Given the description of an element on the screen output the (x, y) to click on. 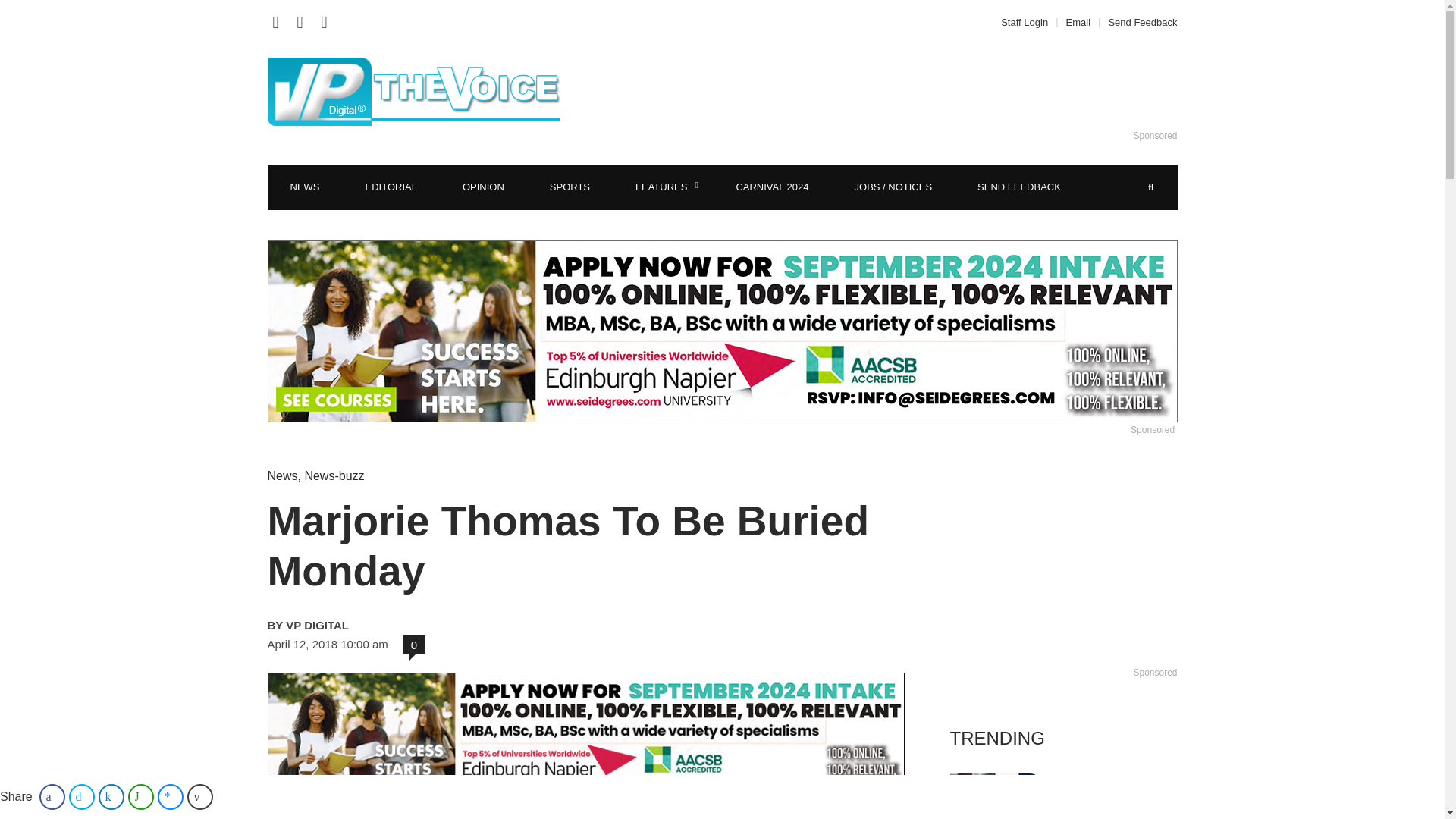
OPINION (483, 186)
Advertisement (906, 91)
SEND FEEDBACK (1019, 186)
Email (1078, 21)
Send Feedback (1138, 21)
SPORTS (569, 186)
NEWS (304, 186)
News (281, 475)
EDITORIAL (390, 186)
News-buzz (334, 475)
Staff Login (1028, 21)
View all posts by VP Digital (422, 625)
VP DIGITAL (422, 625)
CARNIVAL 2024 (772, 186)
FEATURES (662, 186)
